Given the description of an element on the screen output the (x, y) to click on. 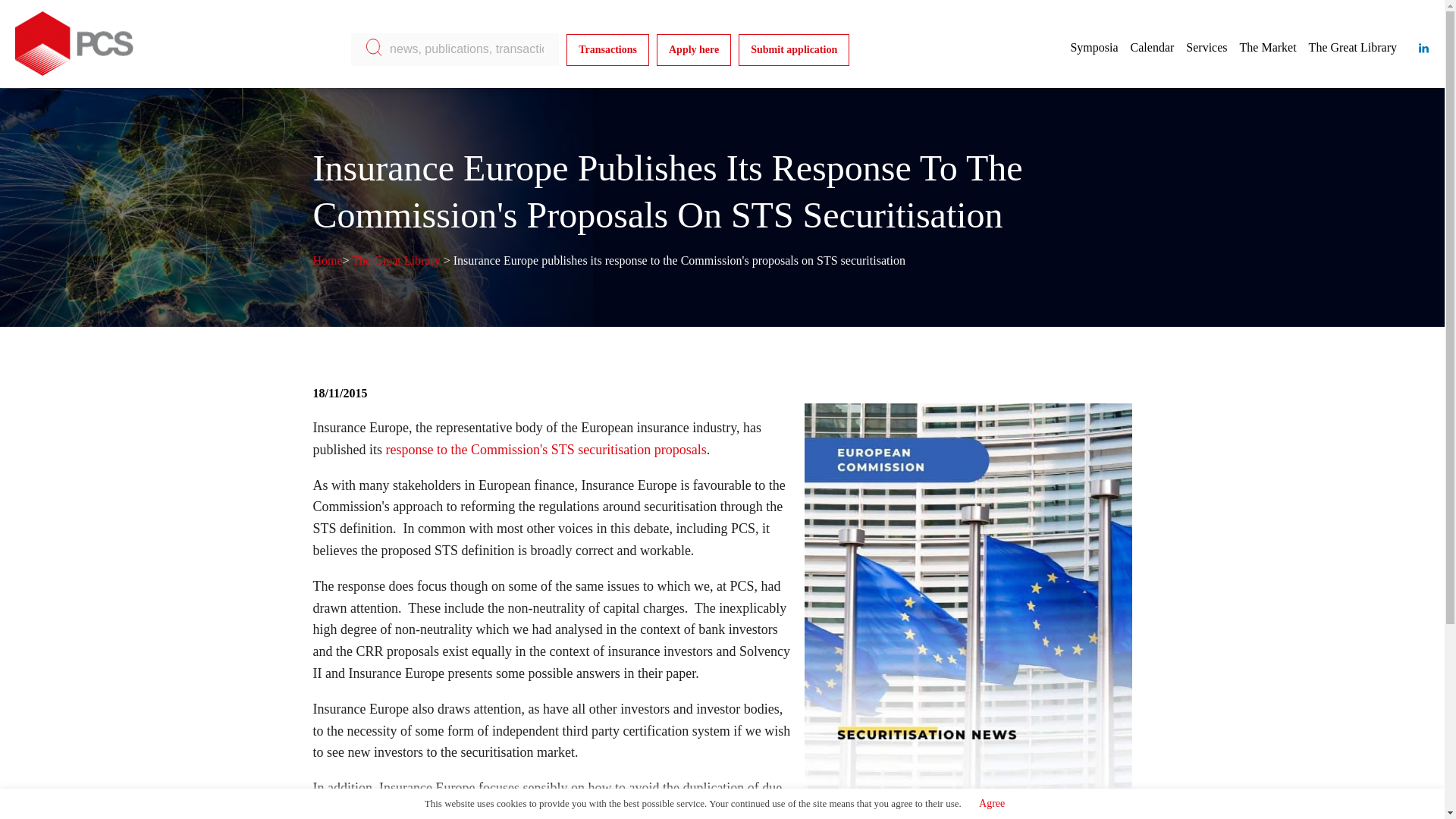
Agree (992, 803)
Transactions (607, 49)
The Market (1268, 47)
Calendar (1152, 47)
Apply here (693, 49)
Symposia (1094, 47)
Home (327, 259)
response to the Commission's STS securitisation proposals (545, 449)
The Great Library (395, 259)
Submit application (793, 49)
